Given the description of an element on the screen output the (x, y) to click on. 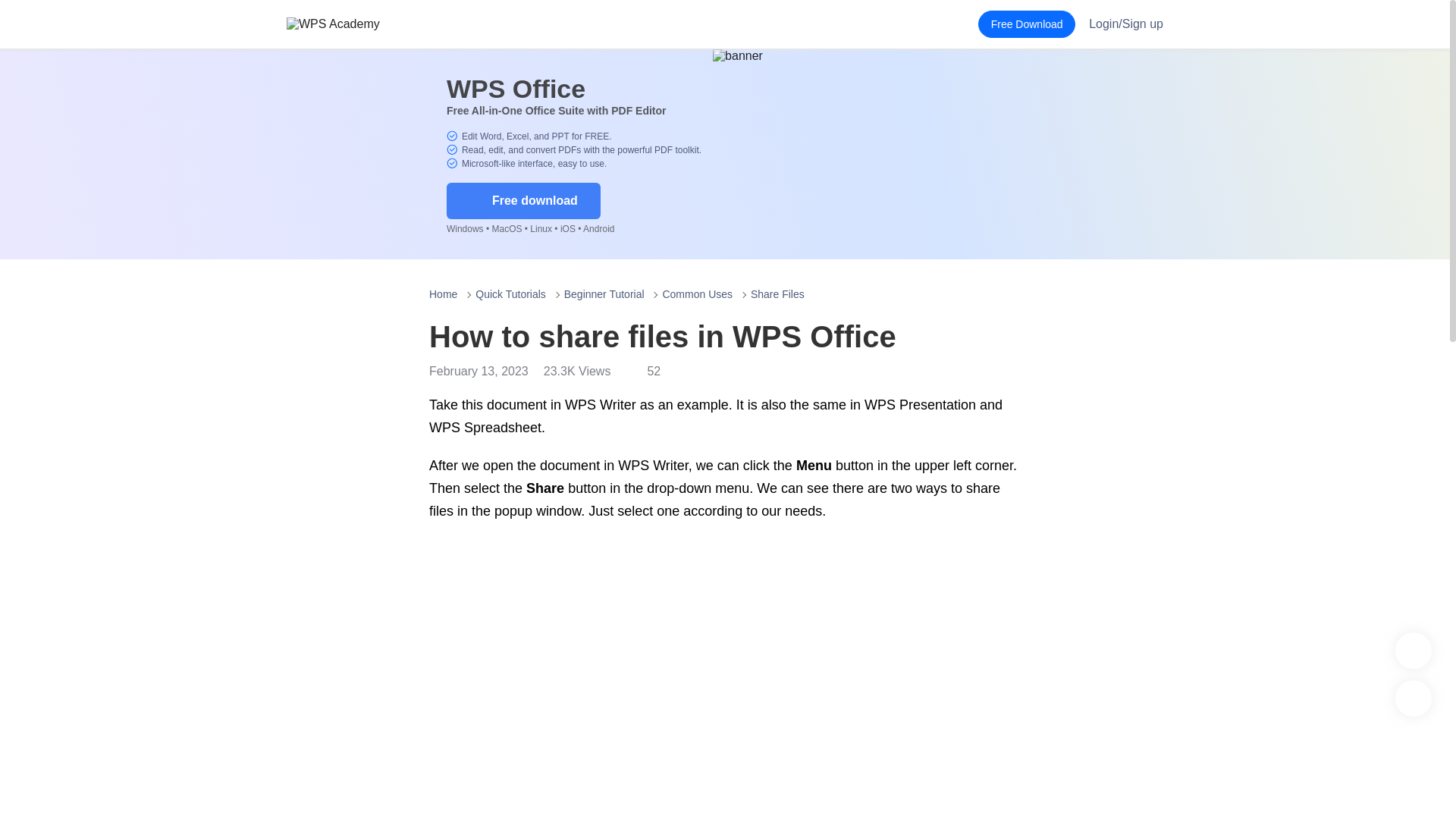
Beginner Tutorial (604, 294)
Share Files (778, 294)
Home (443, 294)
Common Uses (697, 294)
Quick Tutorials (511, 294)
